Given the description of an element on the screen output the (x, y) to click on. 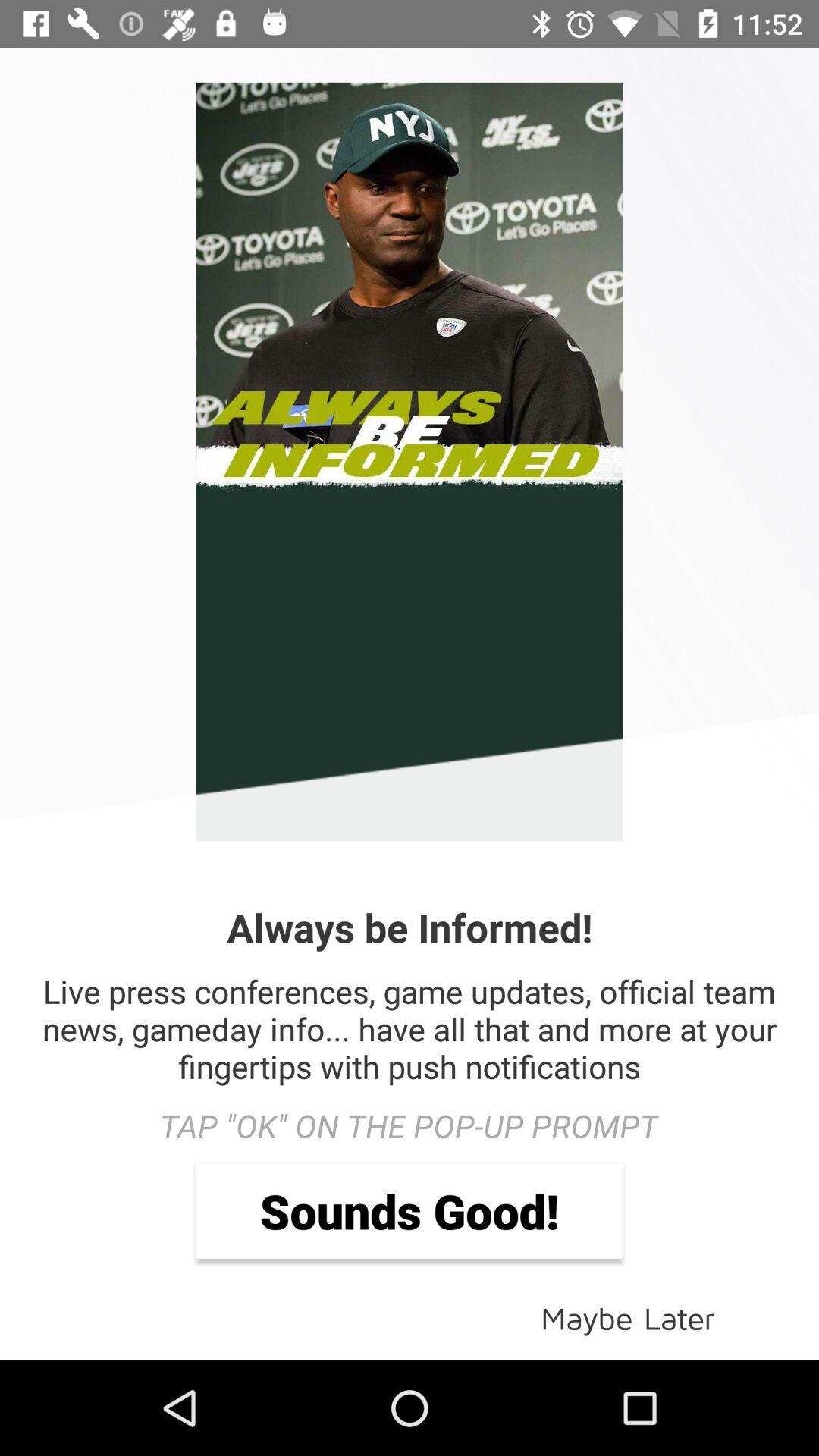
select item above maybe later item (409, 1210)
